Given the description of an element on the screen output the (x, y) to click on. 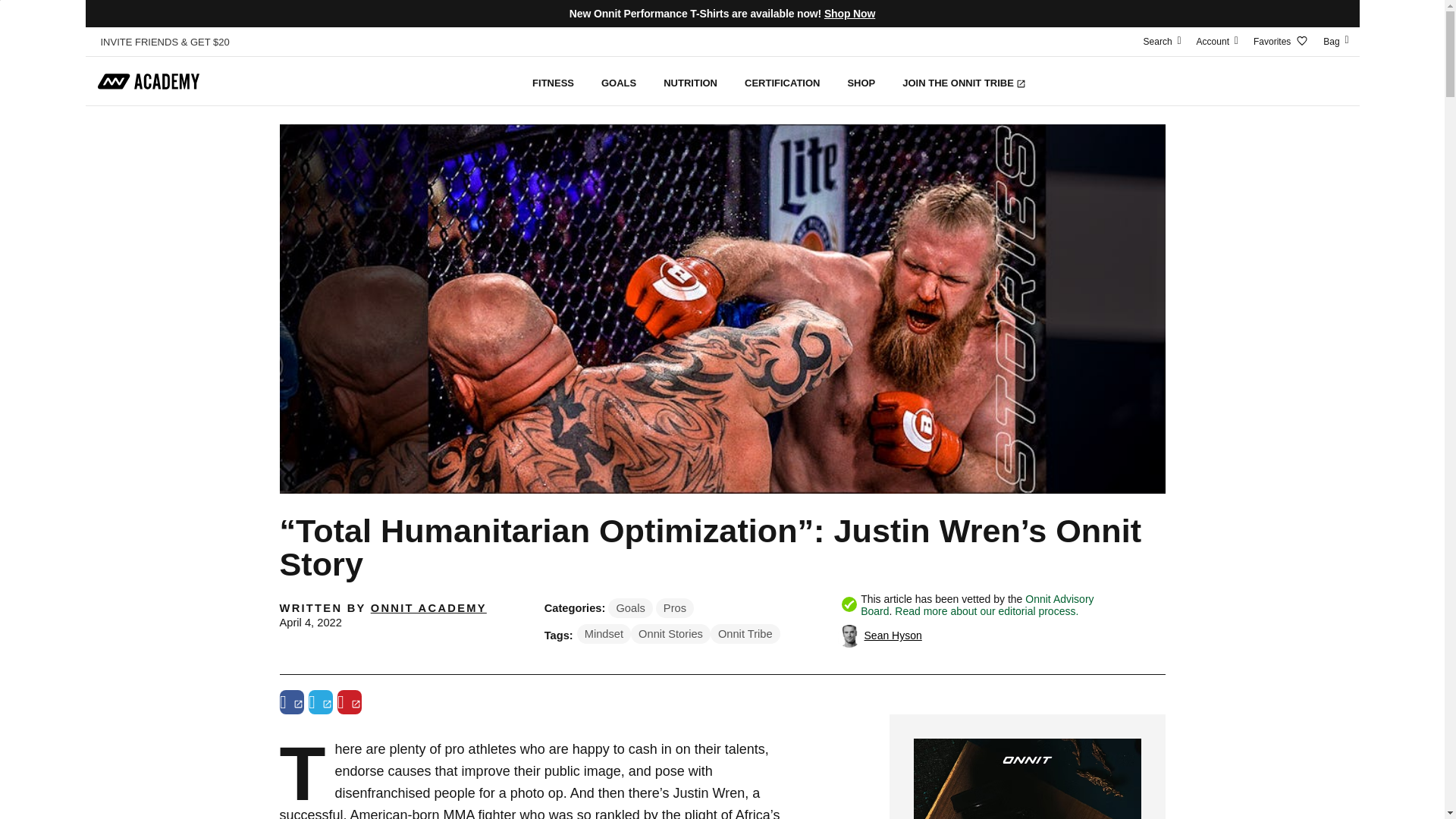
JOIN THE ONNIT TRIBE OPENS IN NEW WINDOW. (963, 81)
GOALS (618, 81)
OPENS IN NEW WINDOW. (1021, 83)
Bag (1337, 40)
Our Editorial process (986, 611)
Heart Icon (1301, 40)
FITNESS (553, 81)
New Onnit Performance T-Shirts are available now! Shop Now (721, 13)
Onnit Advisory Board (976, 604)
Opens in new window. (326, 704)
Sean Hyson (892, 635)
CERTIFICATION (781, 81)
Bag (1337, 40)
Search (1162, 40)
NUTRITION (689, 81)
